Given the description of an element on the screen output the (x, y) to click on. 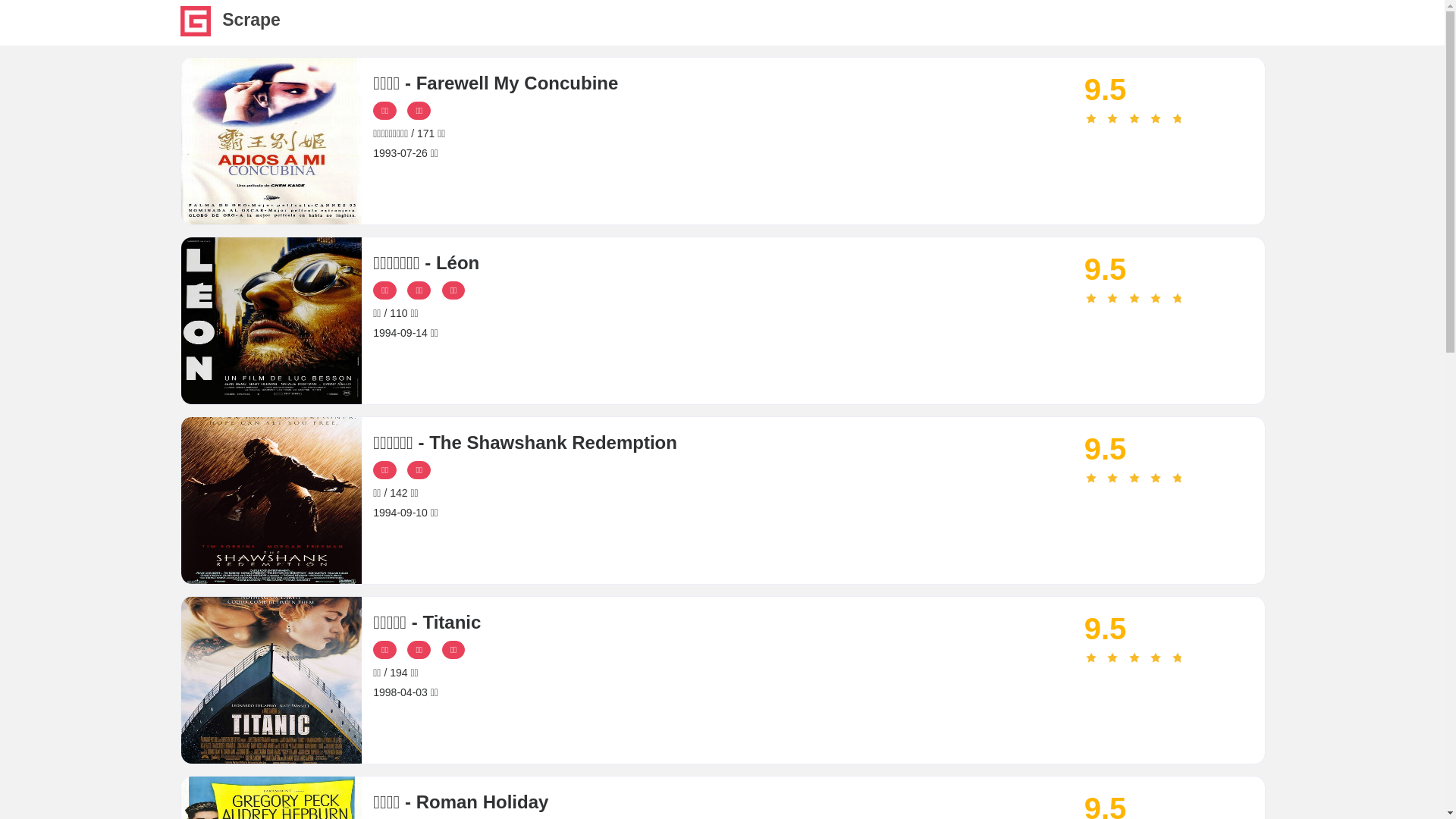
Scrape Element type: text (195, 31)
